Given the description of an element on the screen output the (x, y) to click on. 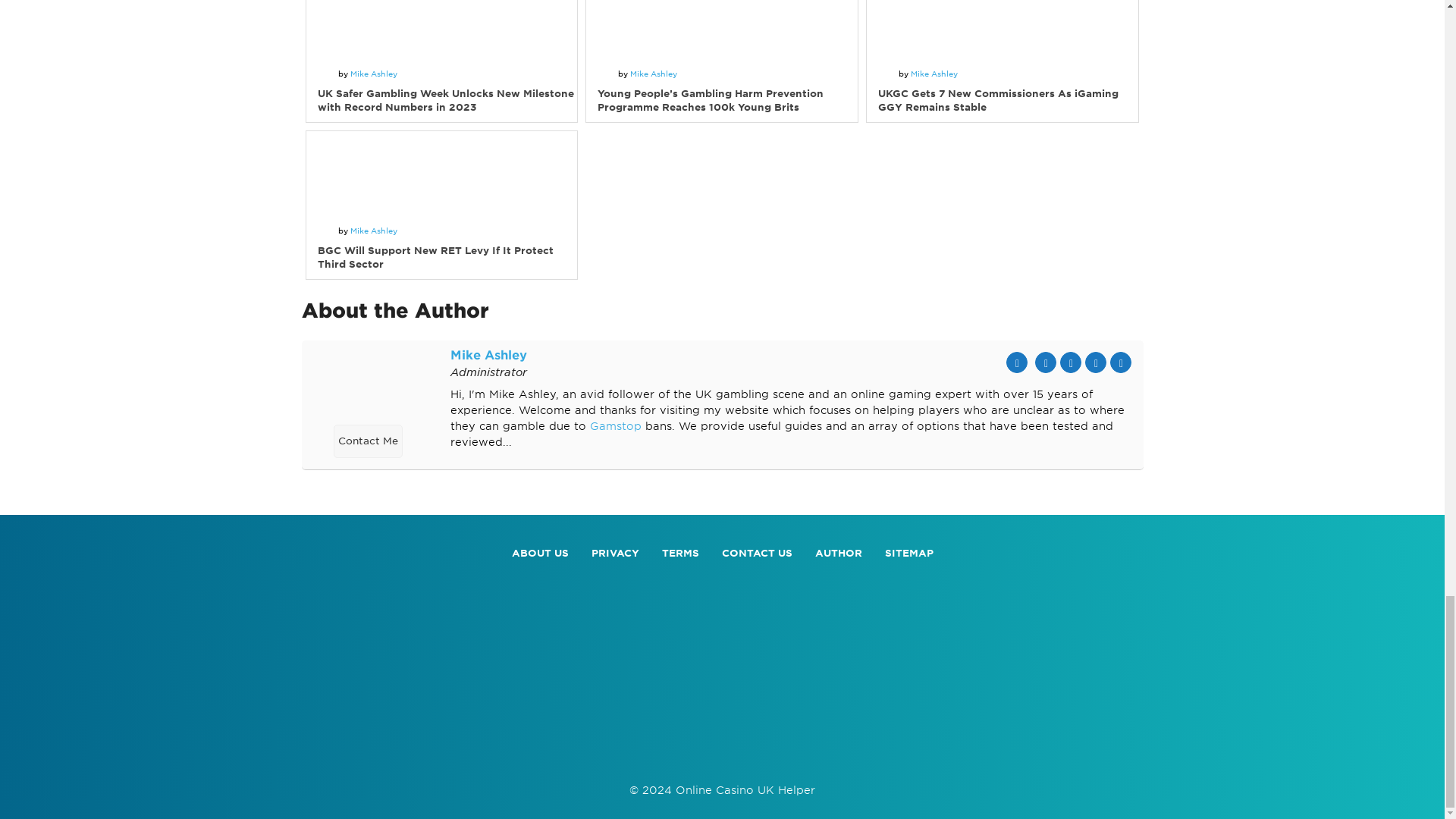
begambleaware (721, 752)
GamCare (961, 752)
